Given the description of an element on the screen output the (x, y) to click on. 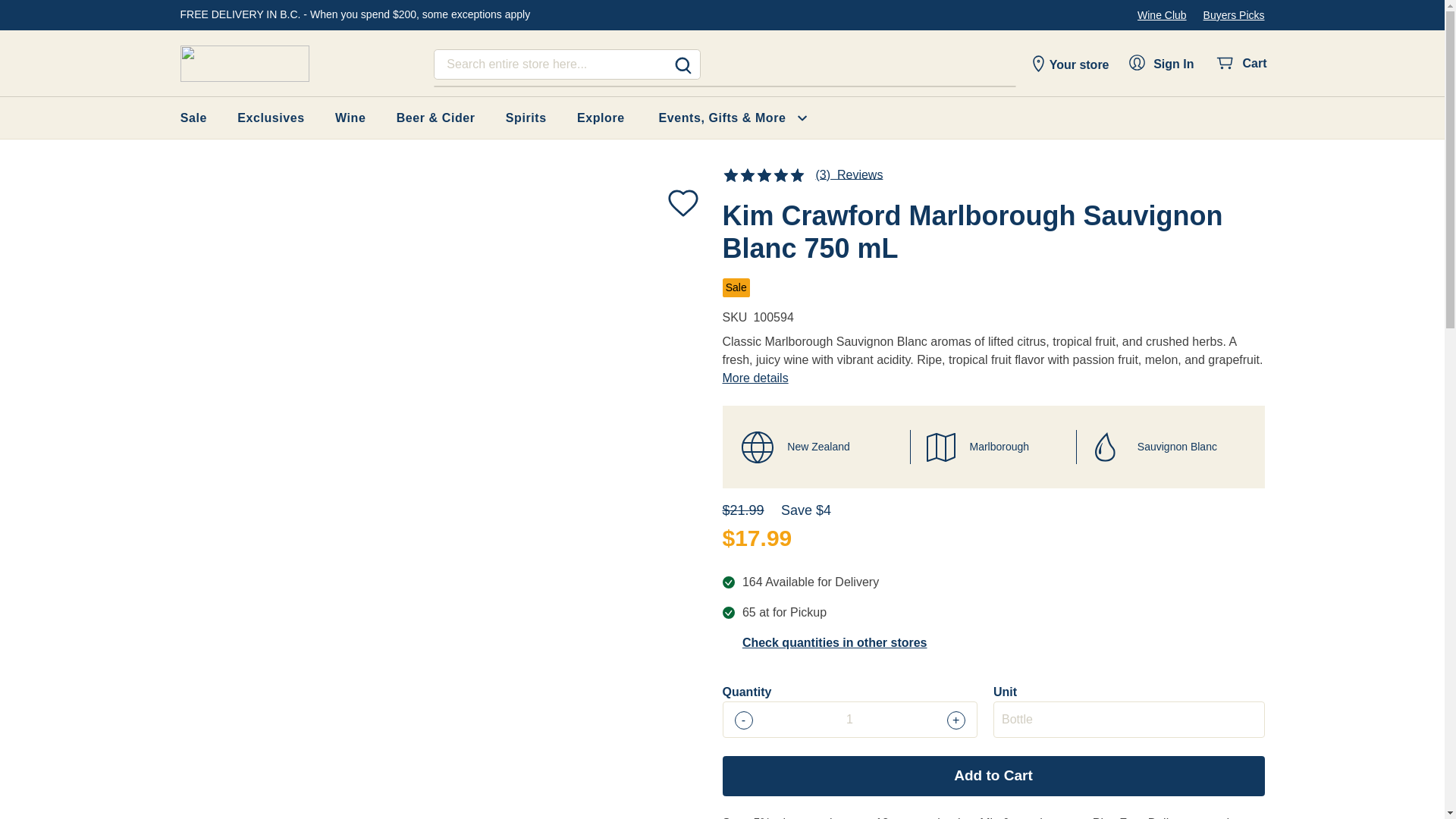
Search (682, 65)
Your store (1068, 64)
1 (849, 719)
Qty (849, 719)
Cart (1240, 63)
Sign In (1163, 64)
Add to Wish List (681, 201)
Wine Club (1161, 15)
Add to Cart (992, 775)
Search (682, 65)
